Given the description of an element on the screen output the (x, y) to click on. 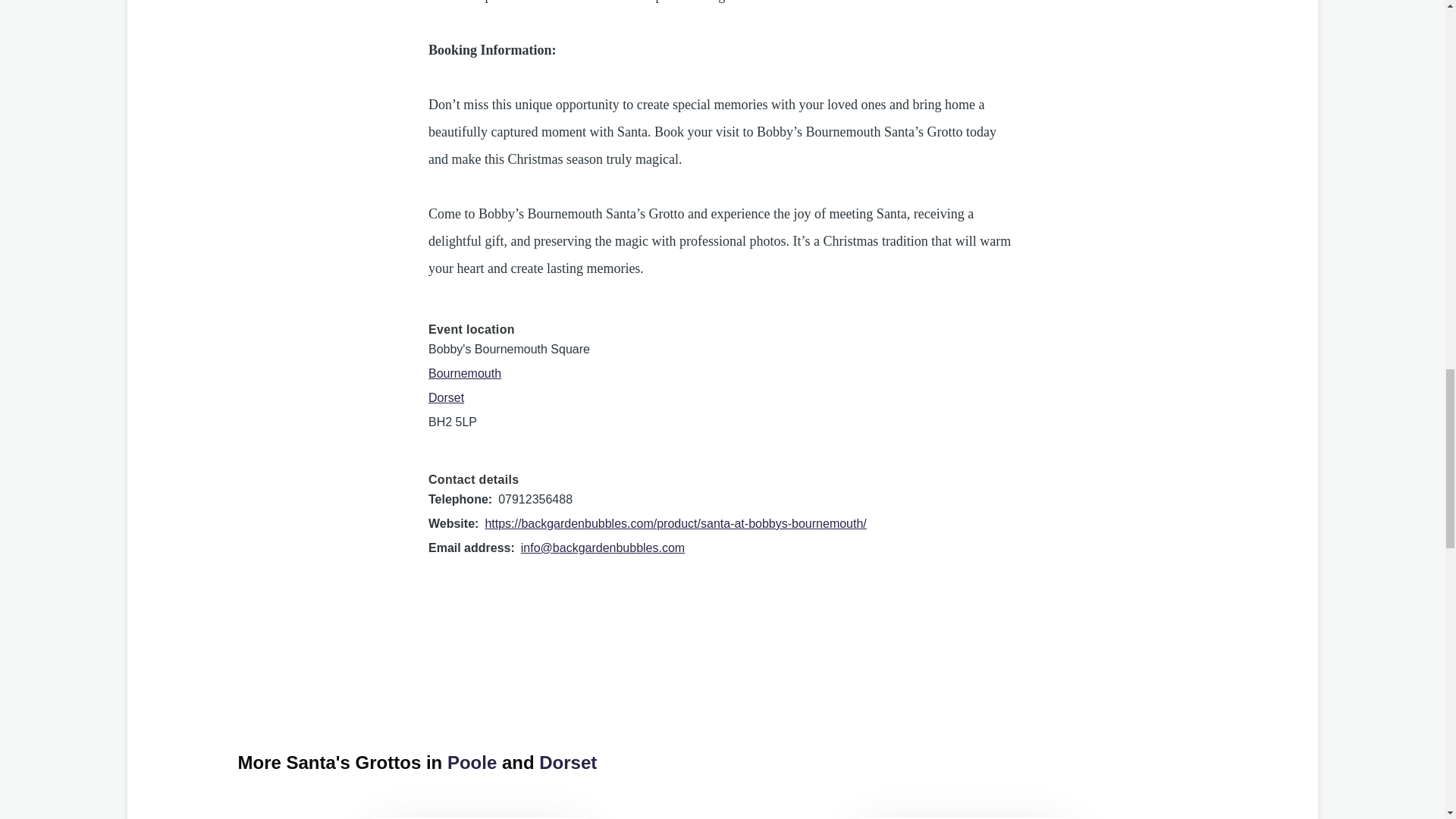
Dorset (446, 397)
Poole (471, 762)
Dorset (567, 762)
Bournemouth (464, 373)
